Given the description of an element on the screen output the (x, y) to click on. 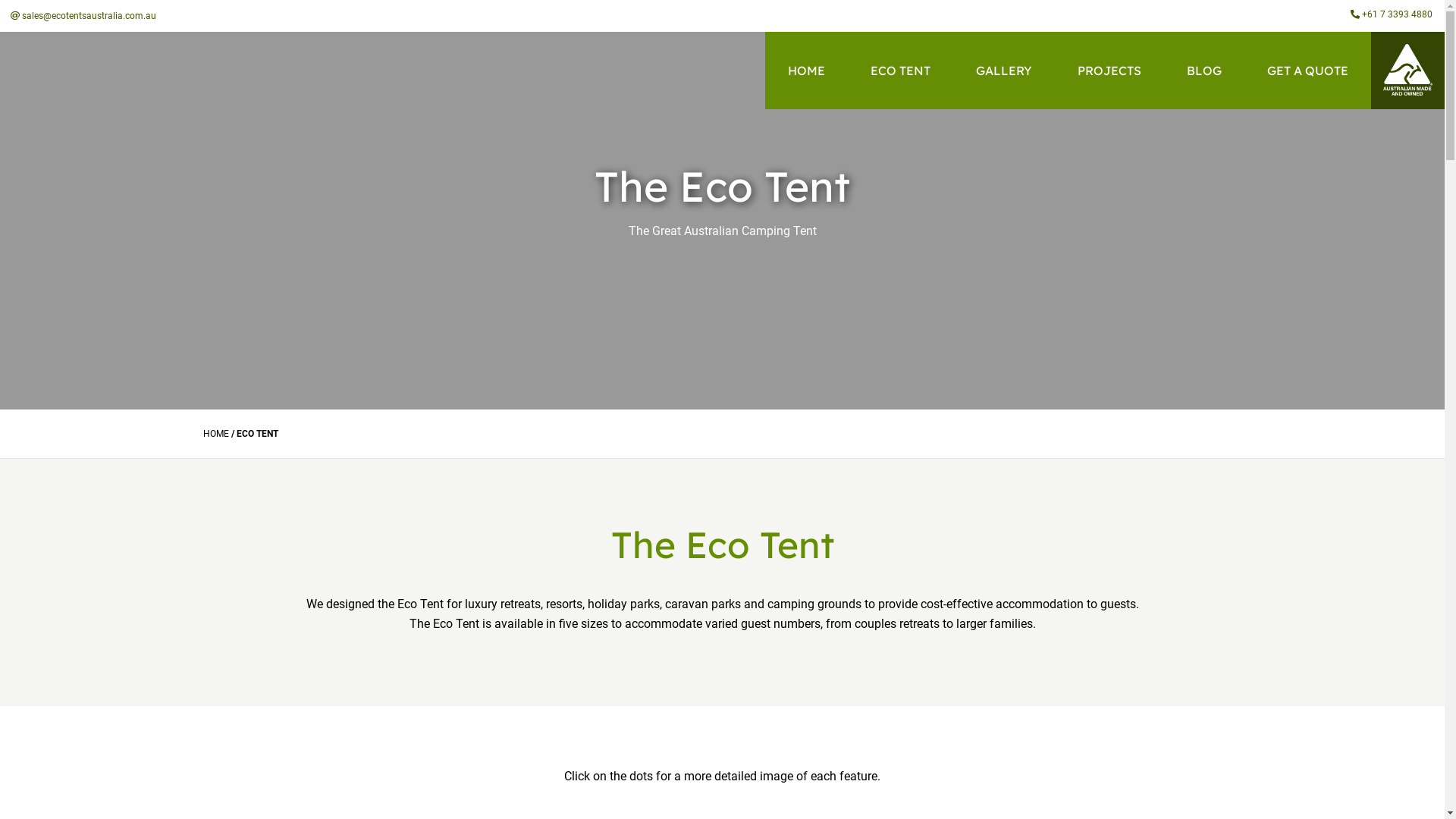
HOME Element type: text (806, 70)
sales@ecotentsaustralia.com.au Element type: text (83, 15)
HOME Element type: text (216, 433)
Eco Tents Australia Element type: text (116, 69)
BLOG Element type: text (1204, 70)
GALLERY Element type: text (1003, 70)
GET A QUOTE Element type: text (1307, 70)
100% Australian Made & Owned Element type: hover (1407, 70)
PROJECTS Element type: text (1109, 70)
ECO TENT Element type: text (900, 70)
+61 7 3393 4880 Element type: text (1391, 14)
